Given the description of an element on the screen output the (x, y) to click on. 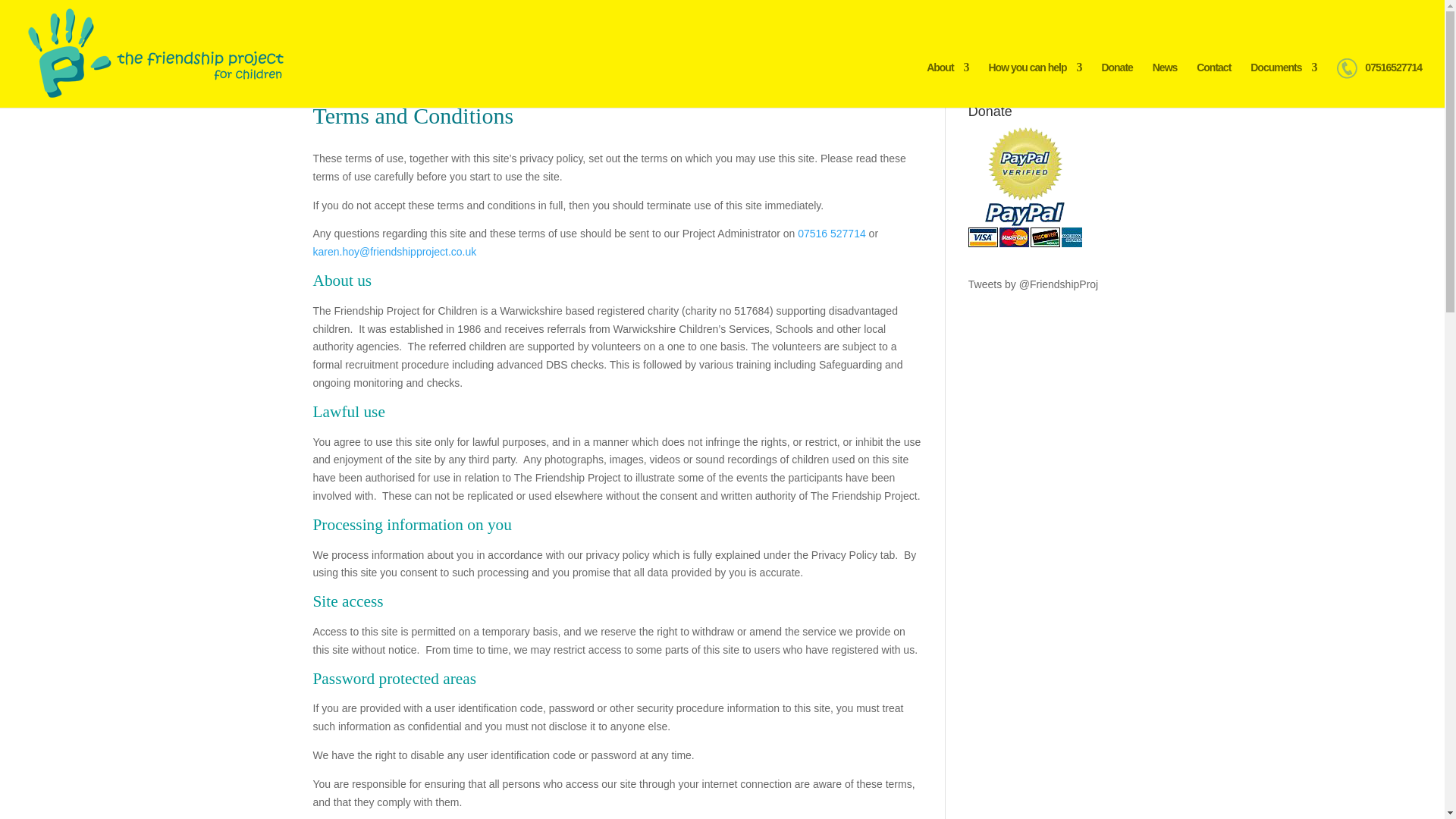
Documents (1283, 81)
How you can help (1034, 81)
About (947, 81)
How you can help (1034, 81)
About (947, 81)
07516527714 (1379, 82)
